Given the description of an element on the screen output the (x, y) to click on. 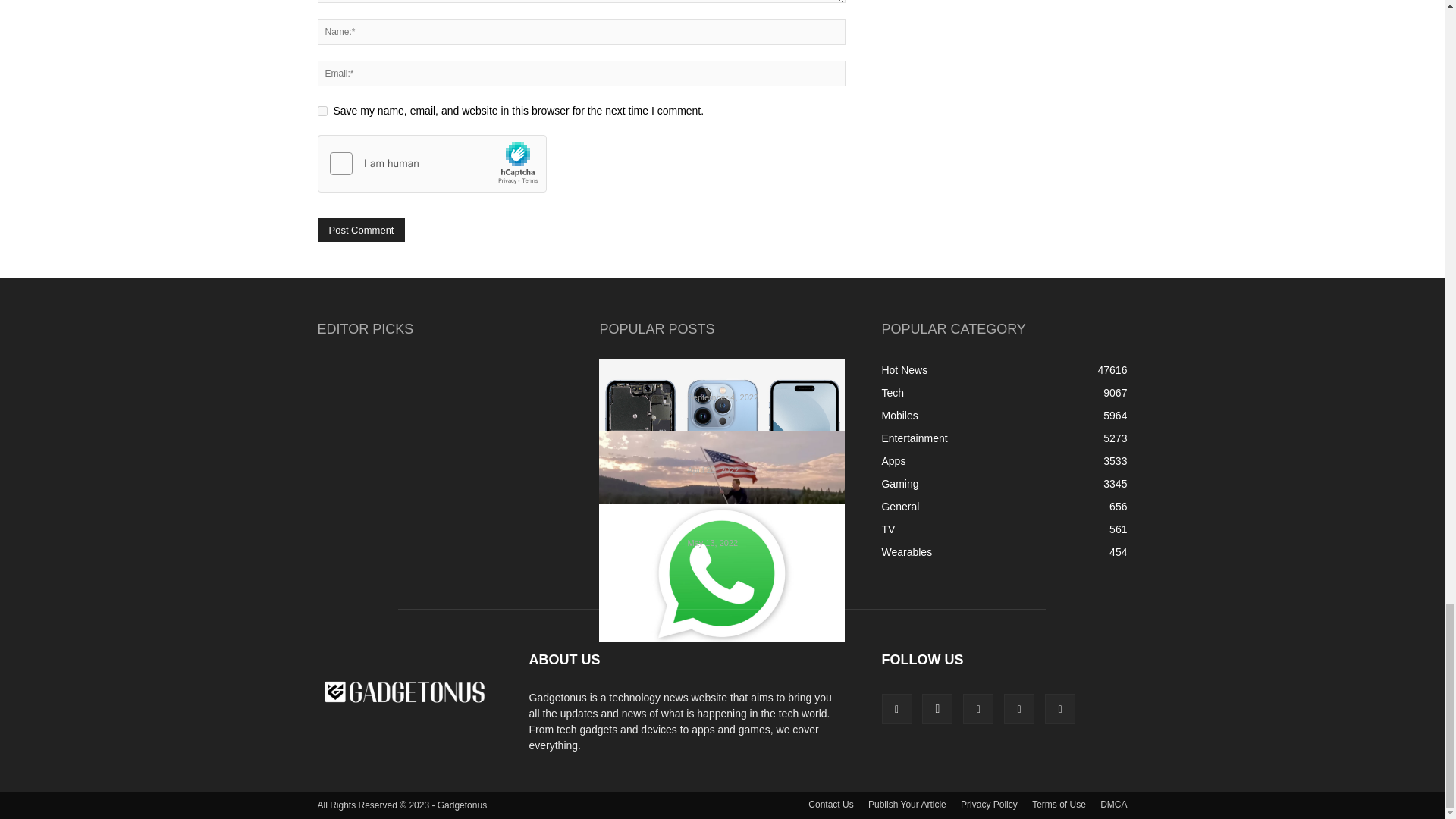
yes (321, 111)
Post Comment (360, 229)
